Given the description of an element on the screen output the (x, y) to click on. 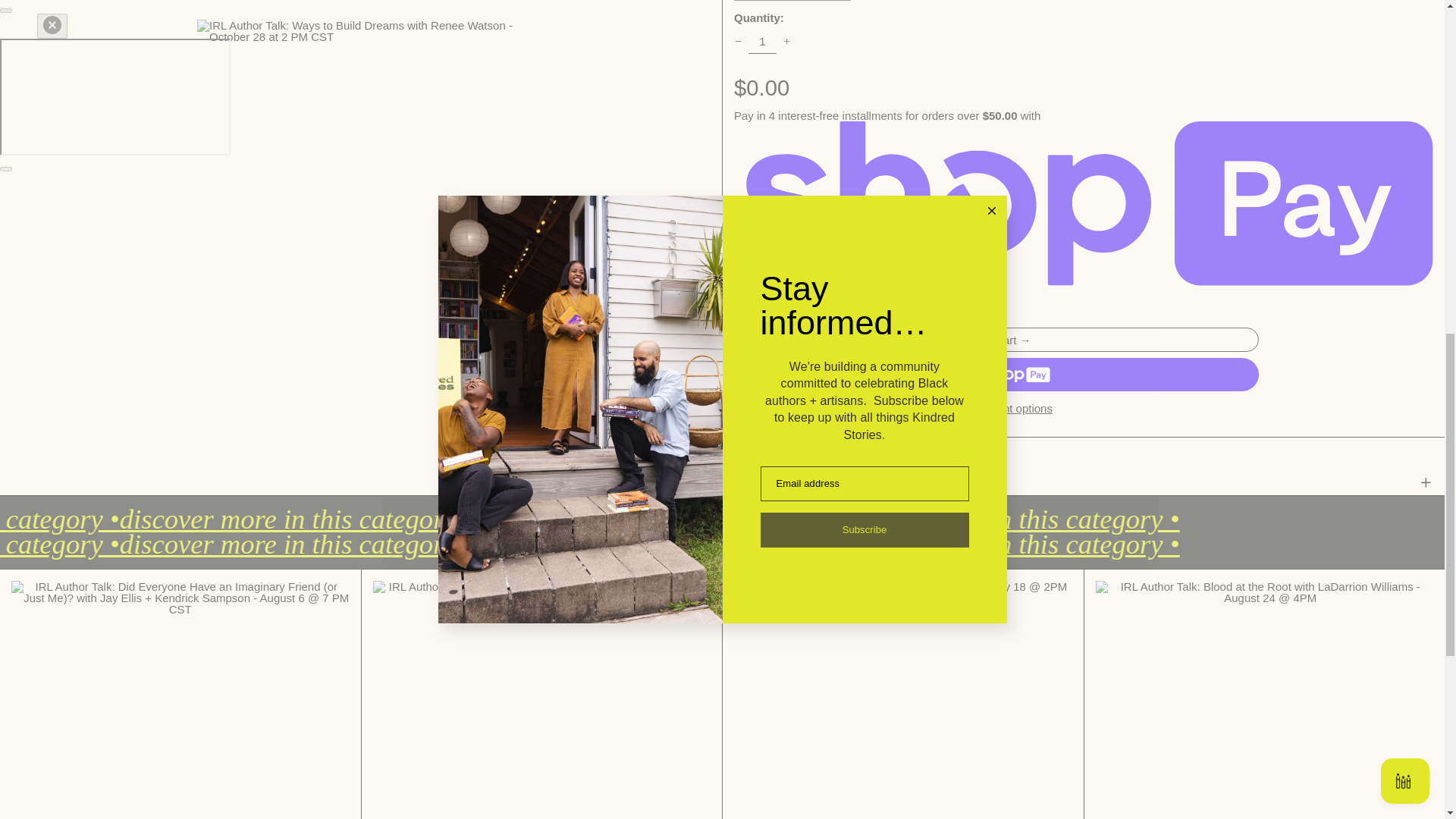
1 (762, 41)
